Given the description of an element on the screen output the (x, y) to click on. 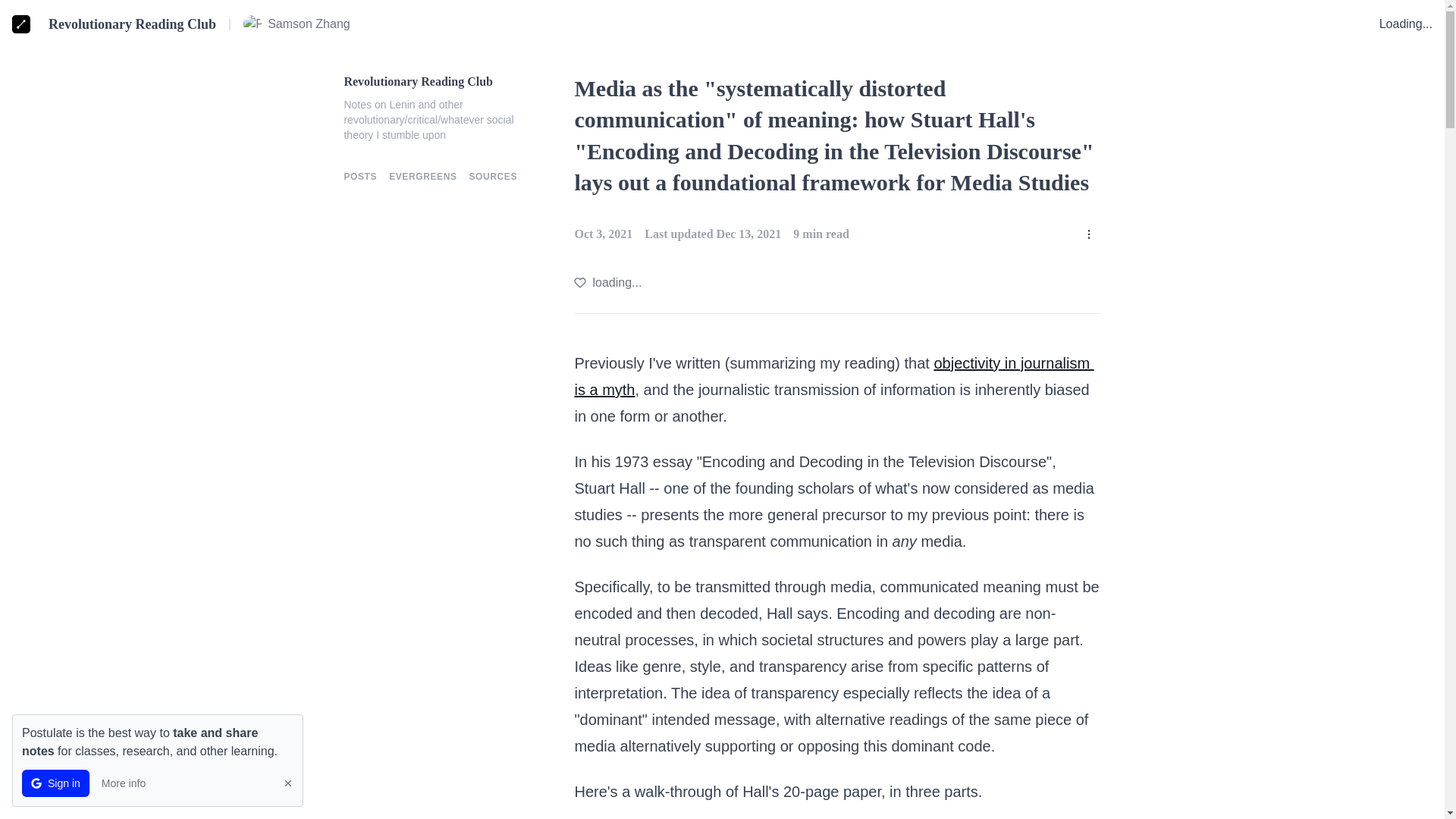
Revolutionary Reading Club (440, 81)
More info (123, 783)
Revolutionary Reading Club (131, 24)
Sign in (54, 782)
Samson Zhang (296, 24)
loading... (607, 282)
POSTS (360, 176)
objectivity in journalism is a myth (833, 376)
EVERGREENS (422, 176)
SOURCES (492, 176)
